Given the description of an element on the screen output the (x, y) to click on. 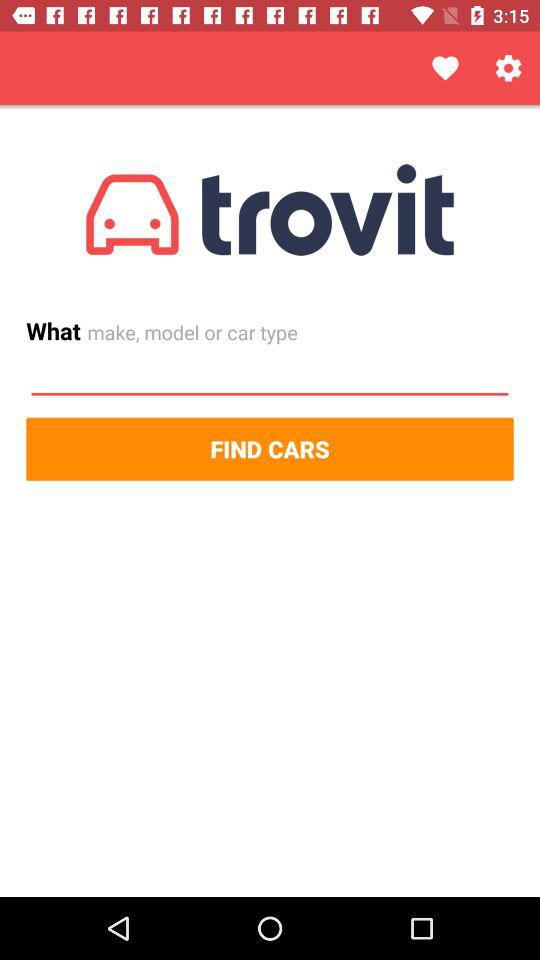
input make model or car type (269, 375)
